Given the description of an element on the screen output the (x, y) to click on. 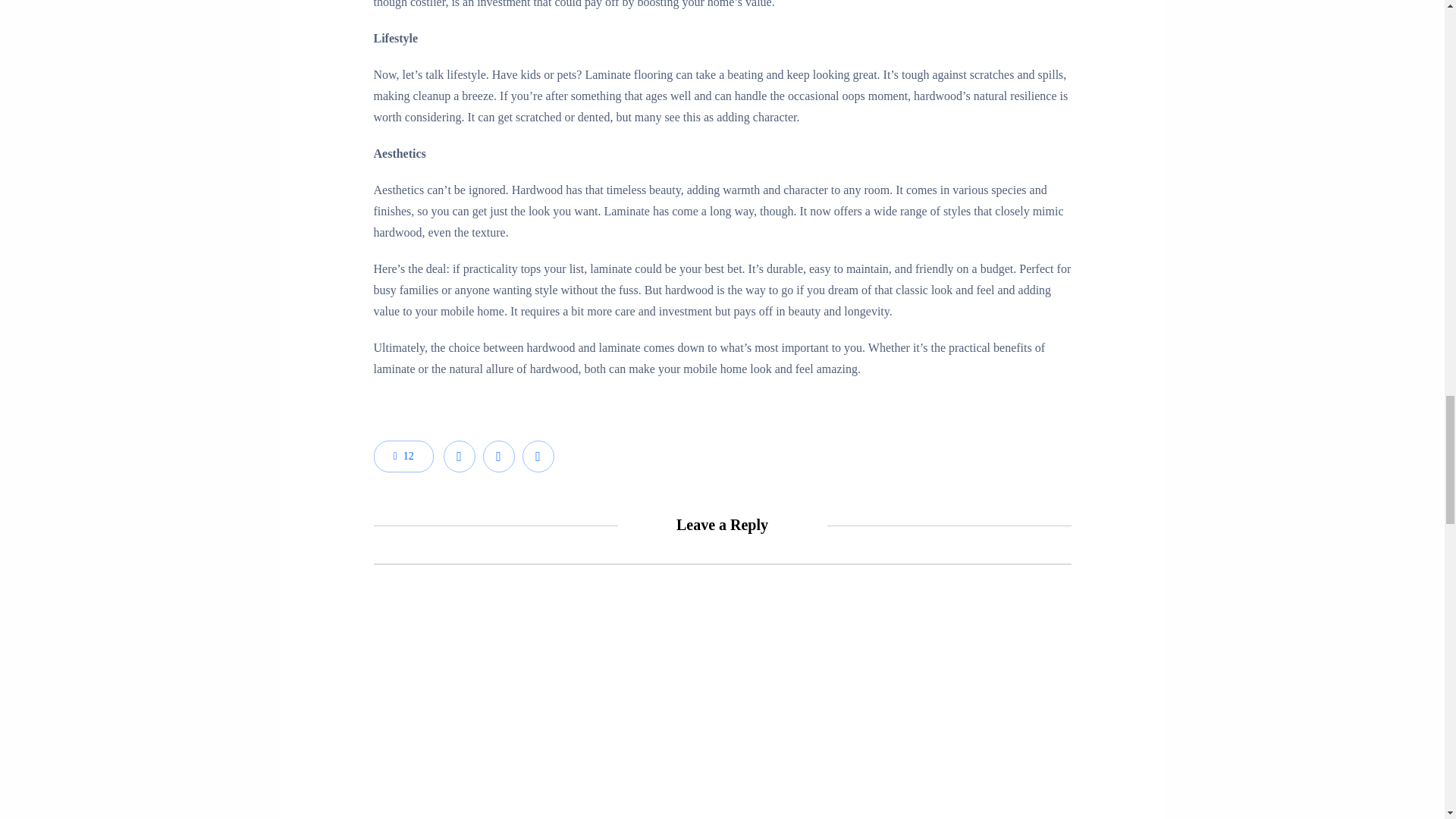
Like (402, 456)
12 (402, 456)
